Given the description of an element on the screen output the (x, y) to click on. 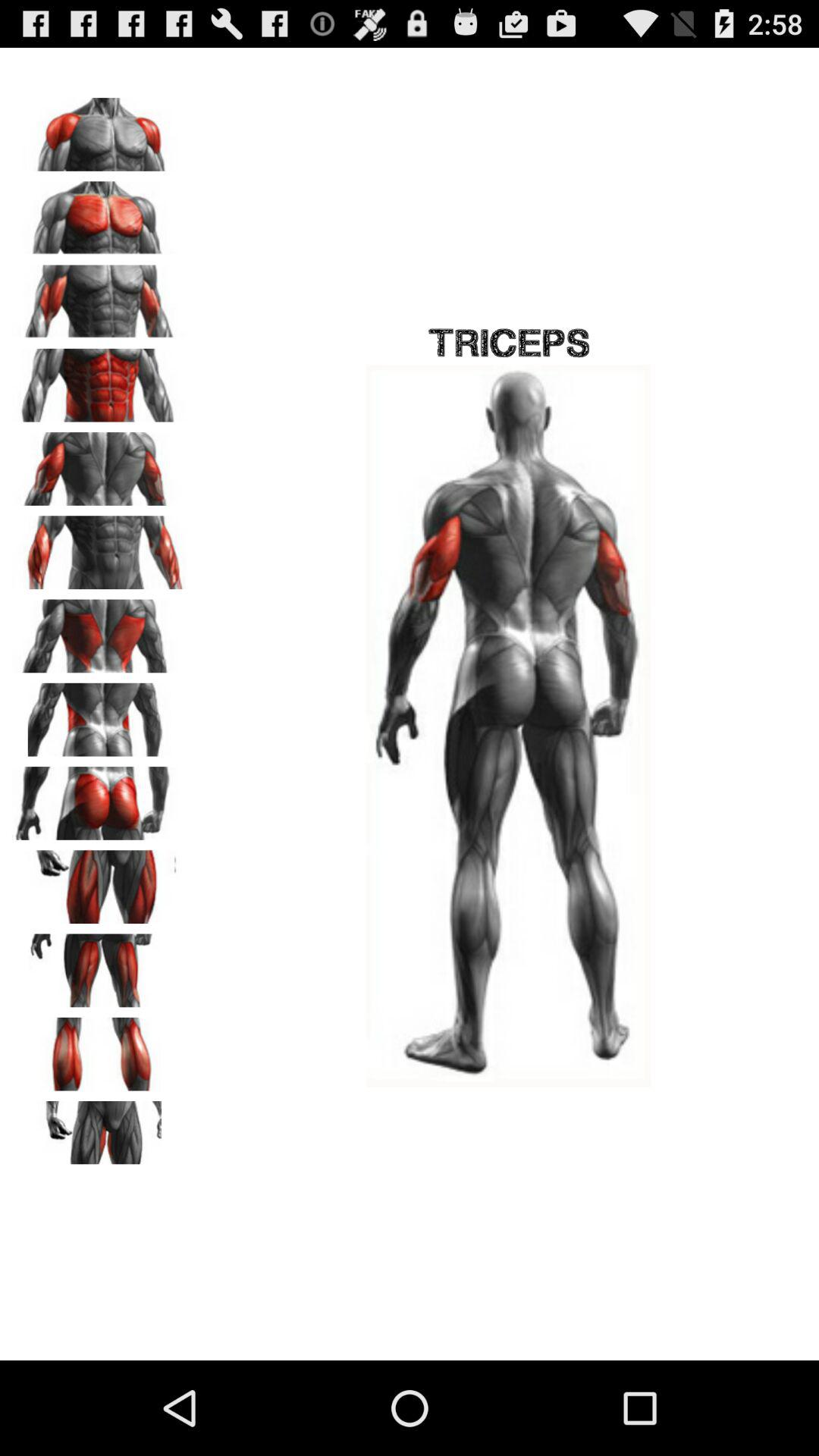
change photo (99, 881)
